Given the description of an element on the screen output the (x, y) to click on. 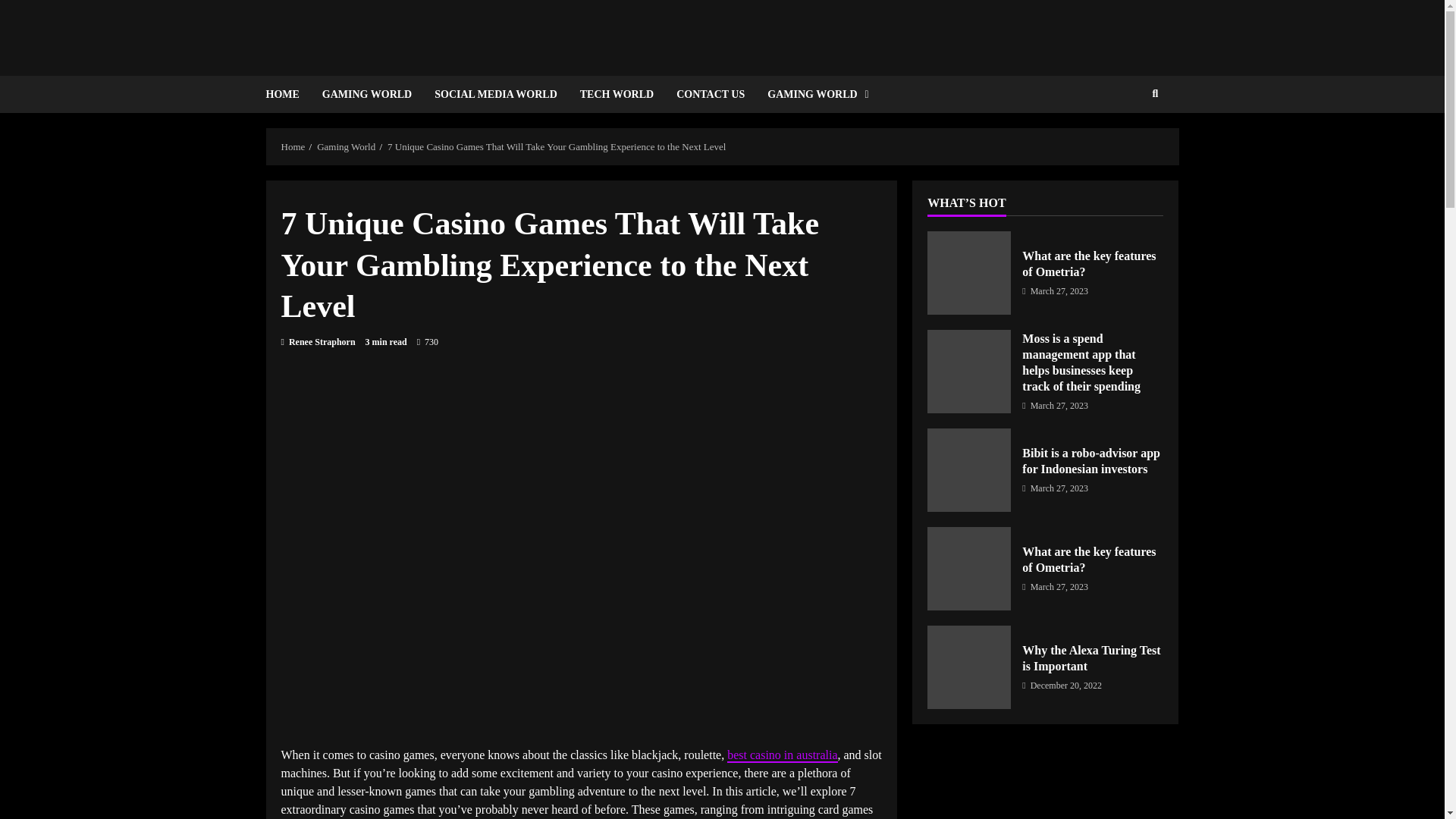
best casino in australia (781, 755)
CONTACT US (710, 94)
TECH WORLD (617, 94)
Renee Straphorn (318, 341)
Home (292, 146)
Gaming World (346, 146)
SOCIAL MEDIA WORLD (496, 94)
GAMING WORLD (367, 94)
HOME (287, 94)
